Given the description of an element on the screen output the (x, y) to click on. 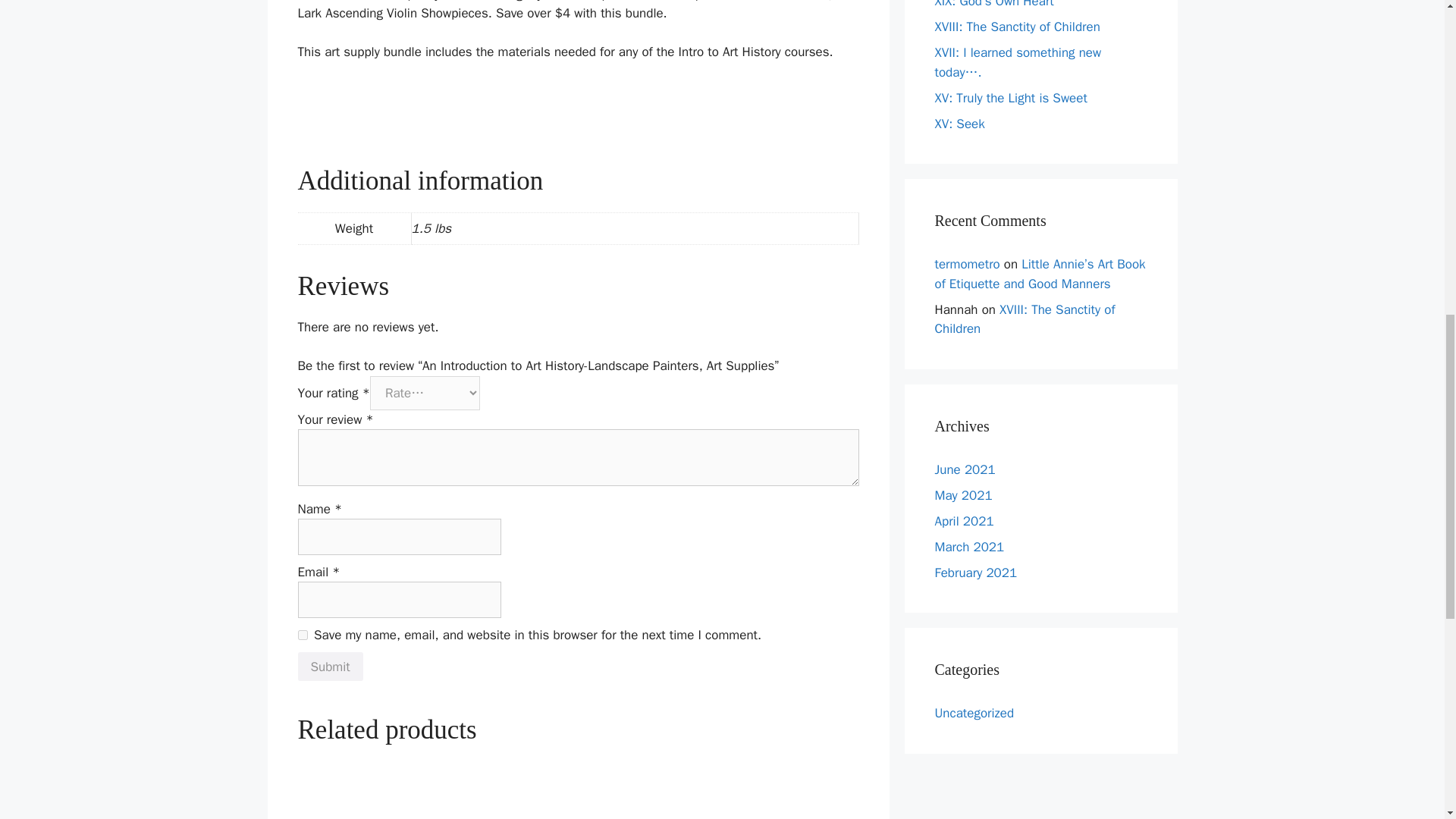
yes (302, 634)
Submit (329, 665)
Submit (329, 665)
